Given the description of an element on the screen output the (x, y) to click on. 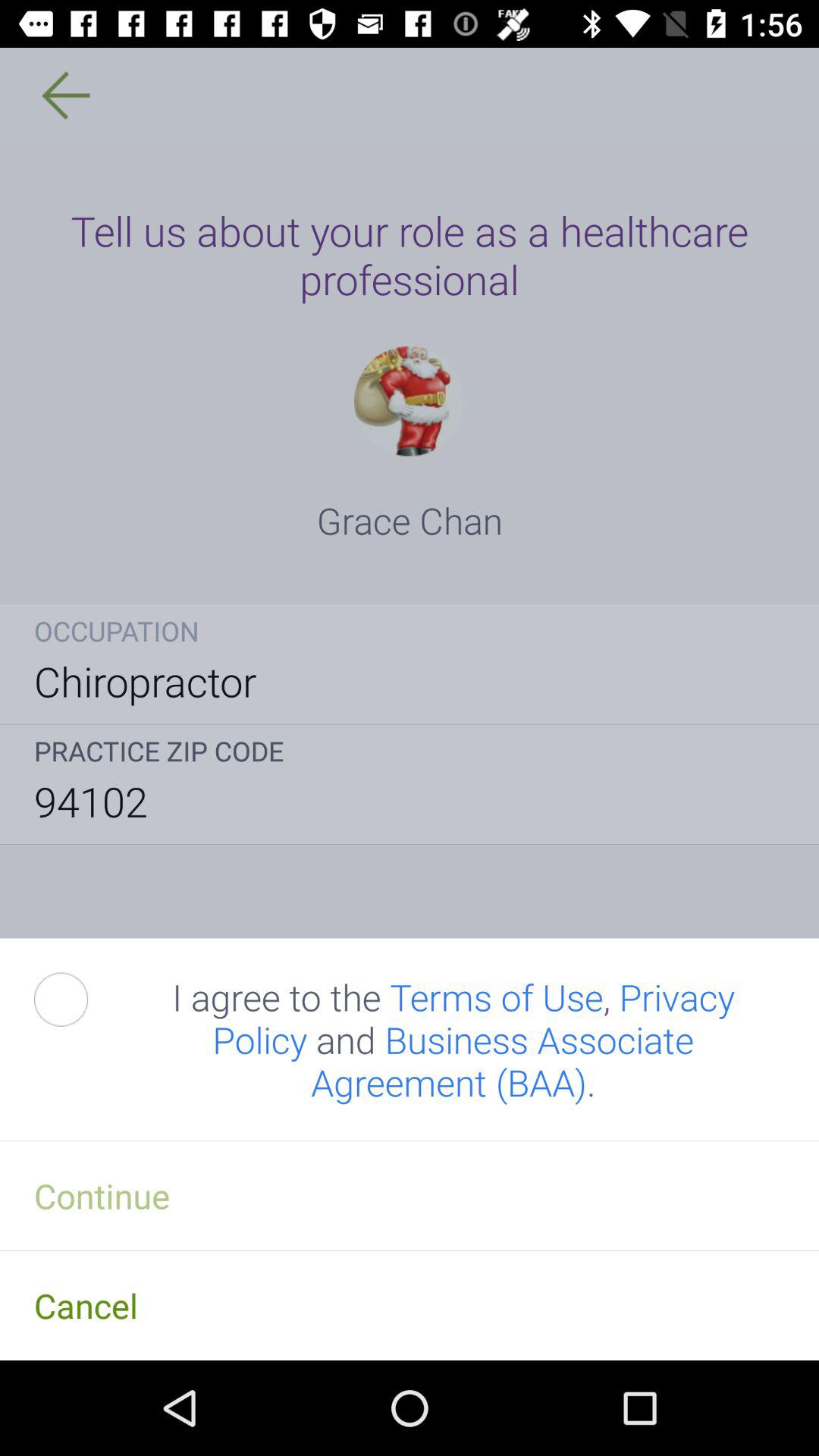
agree to terms of use (78, 999)
